Given the description of an element on the screen output the (x, y) to click on. 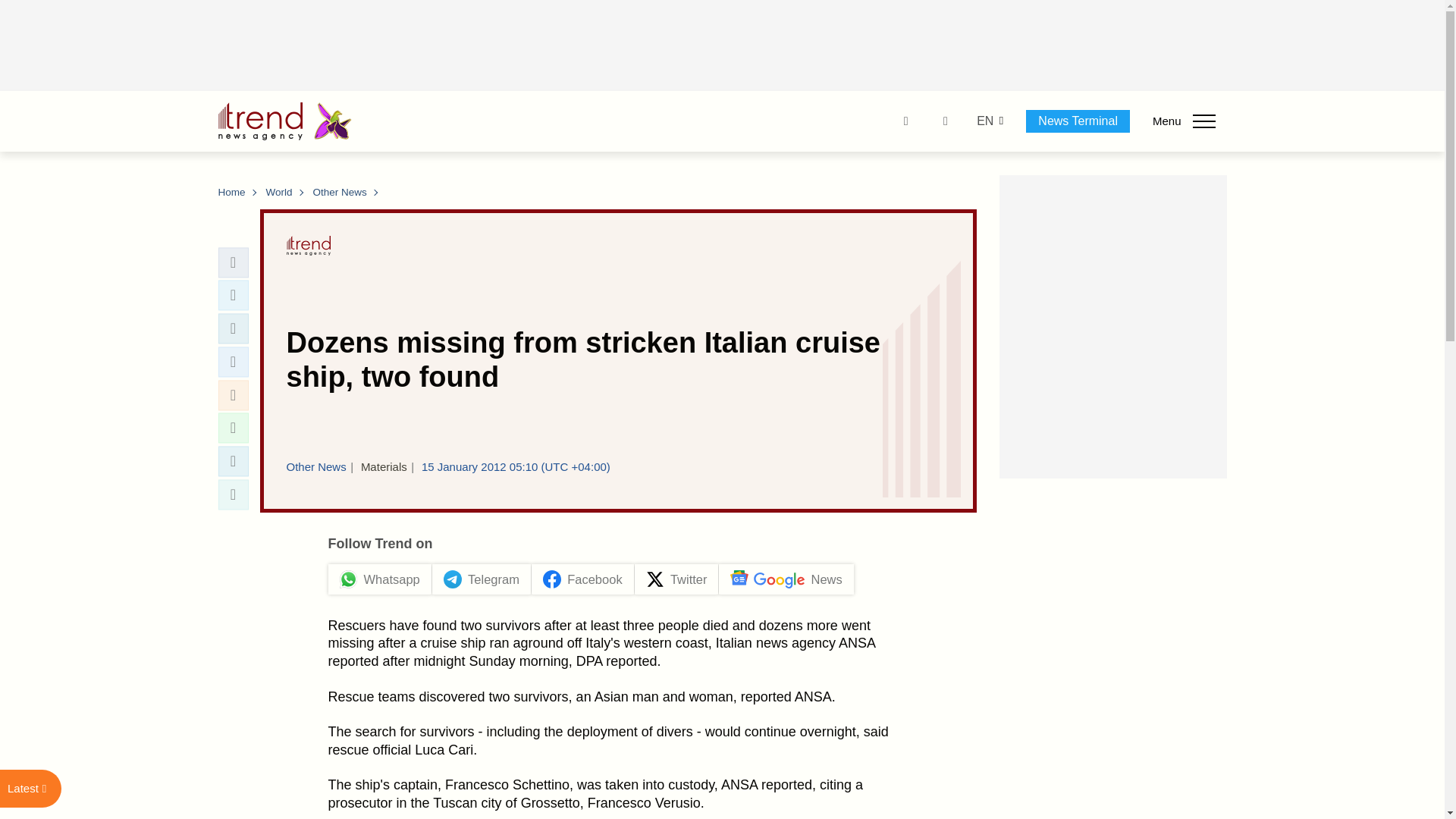
English (984, 121)
EN (984, 121)
News Terminal (1077, 120)
